Given the description of an element on the screen output the (x, y) to click on. 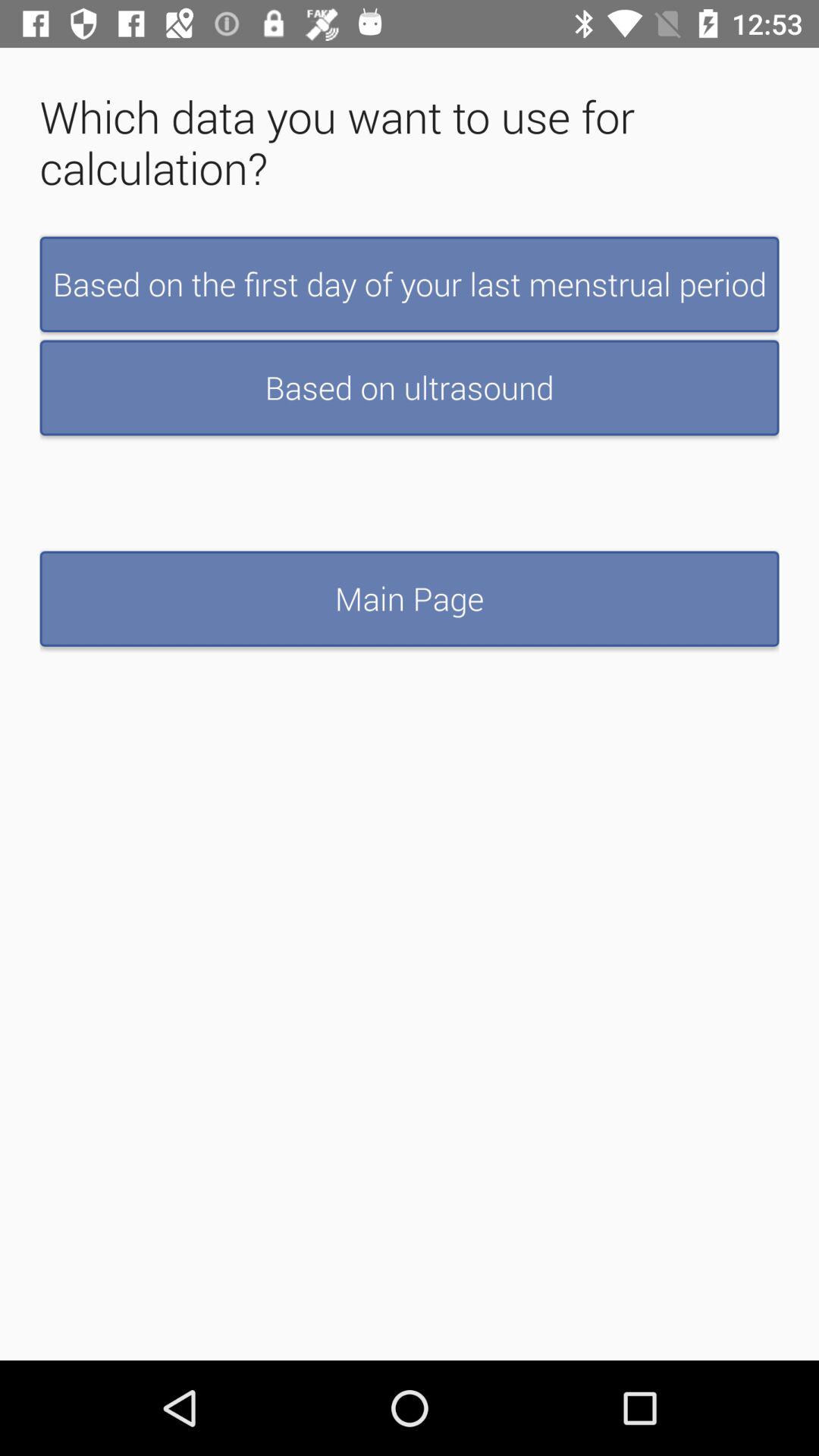
swipe until the main page icon (409, 598)
